Given the description of an element on the screen output the (x, y) to click on. 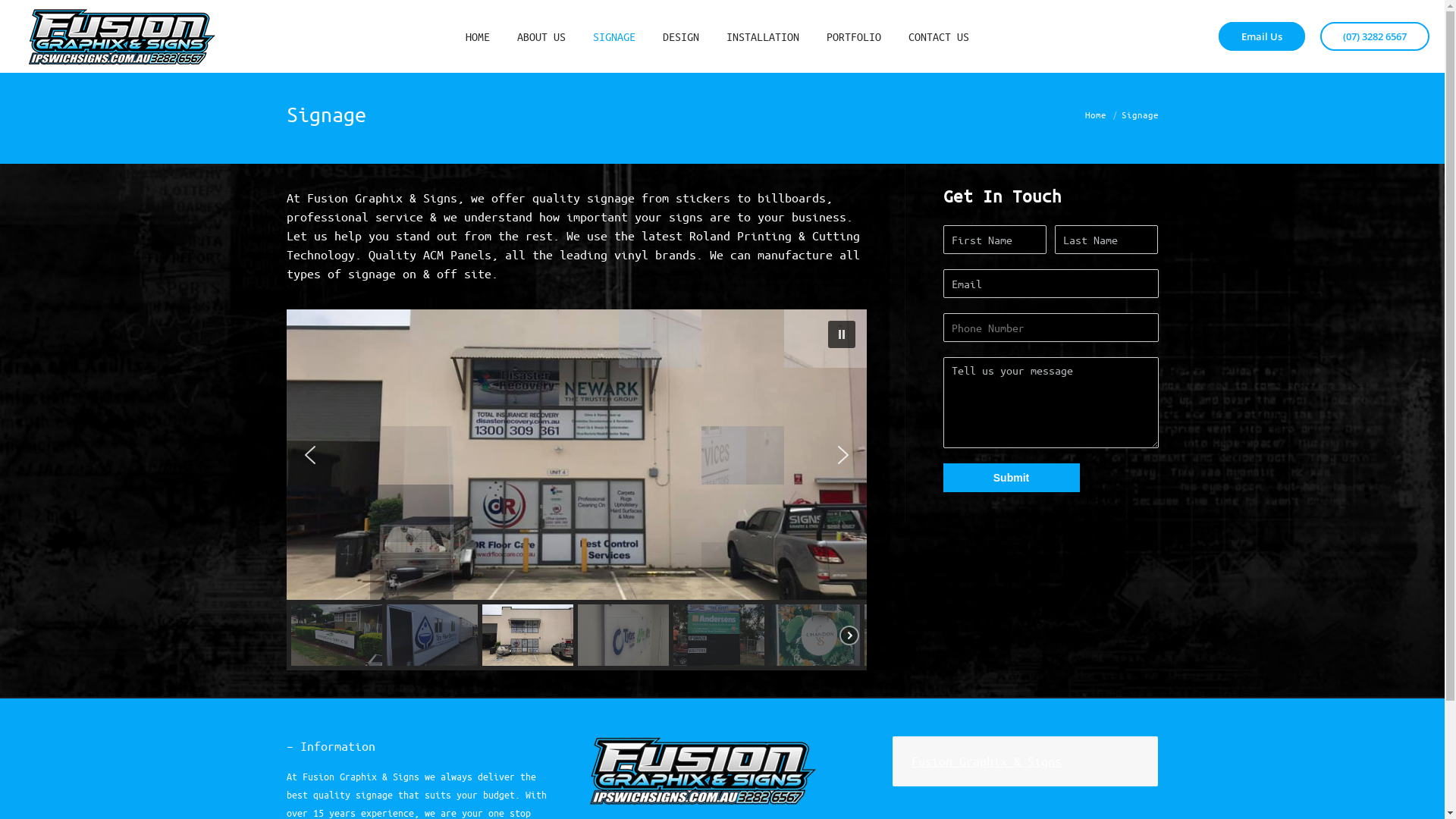
Home Element type: text (1094, 113)
Email Us Element type: text (1261, 35)
ABOUT US Element type: text (541, 36)
DESIGN Element type: text (680, 36)
HOME Element type: text (477, 36)
INSTALLATION Element type: text (762, 36)
CONTACT US Element type: text (938, 36)
SIGNAGE Element type: text (613, 36)
Submit Element type: text (1011, 477)
(07) 3282 6567 Element type: text (1374, 35)
Fusion Graphix & Signs Element type: text (986, 760)
PORTFOLIO Element type: text (853, 36)
